Given the description of an element on the screen output the (x, y) to click on. 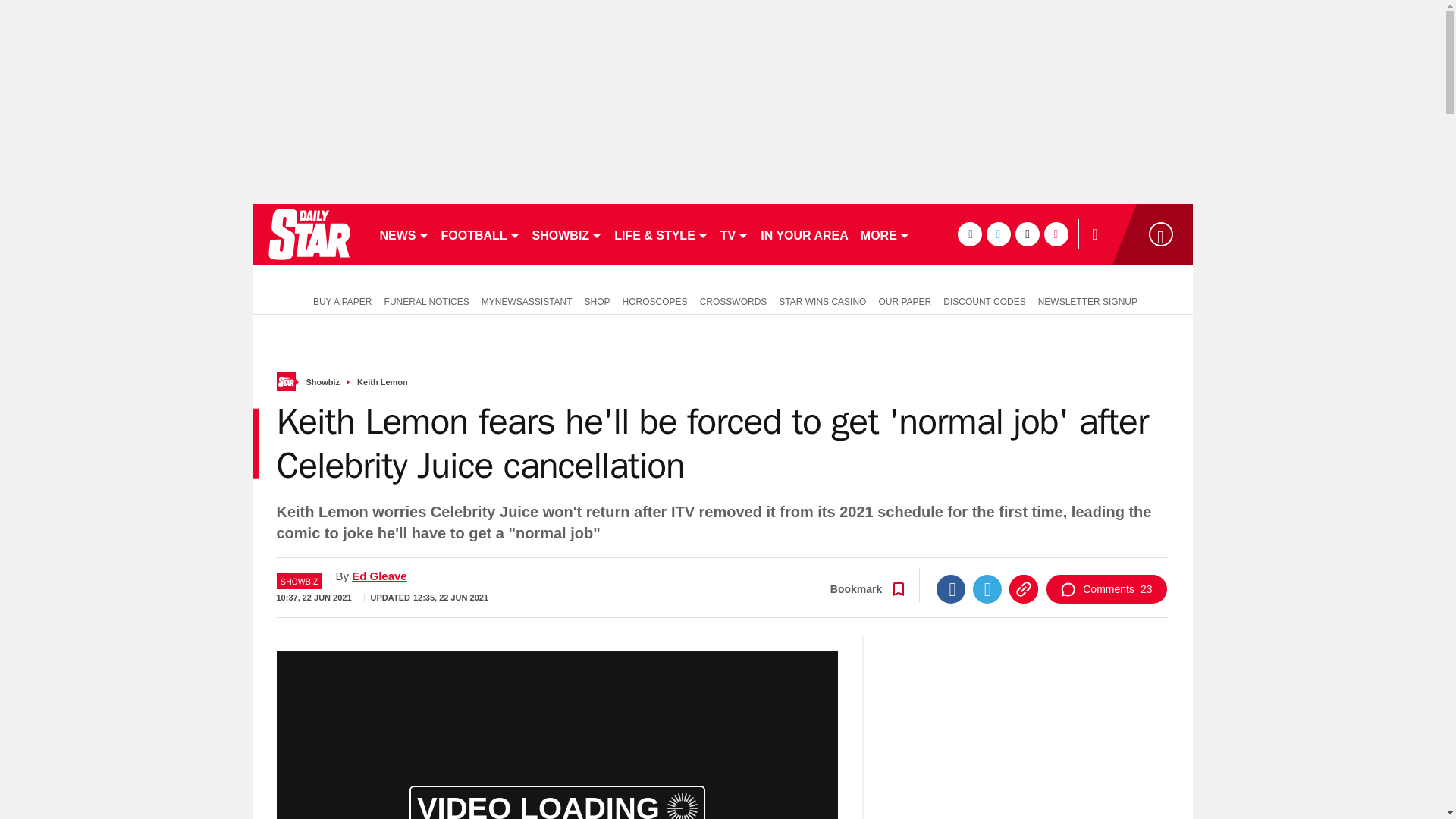
Twitter (986, 588)
Facebook (950, 588)
instagram (1055, 233)
facebook (968, 233)
SHOWBIZ (566, 233)
NEWS (402, 233)
twitter (997, 233)
dailystar (308, 233)
Comments (1105, 588)
tiktok (1026, 233)
